Given the description of an element on the screen output the (x, y) to click on. 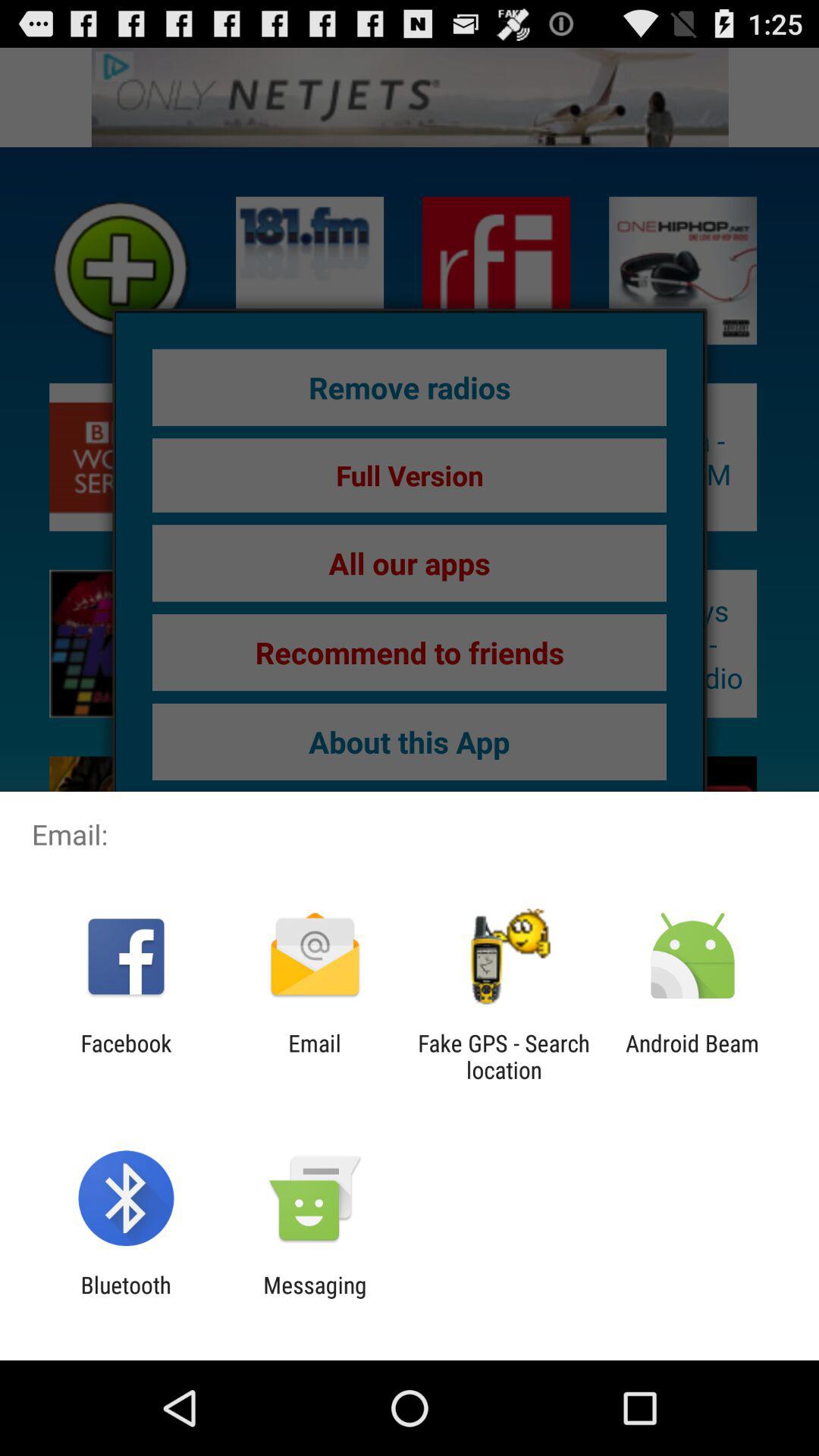
jump to the android beam app (692, 1056)
